Given the description of an element on the screen output the (x, y) to click on. 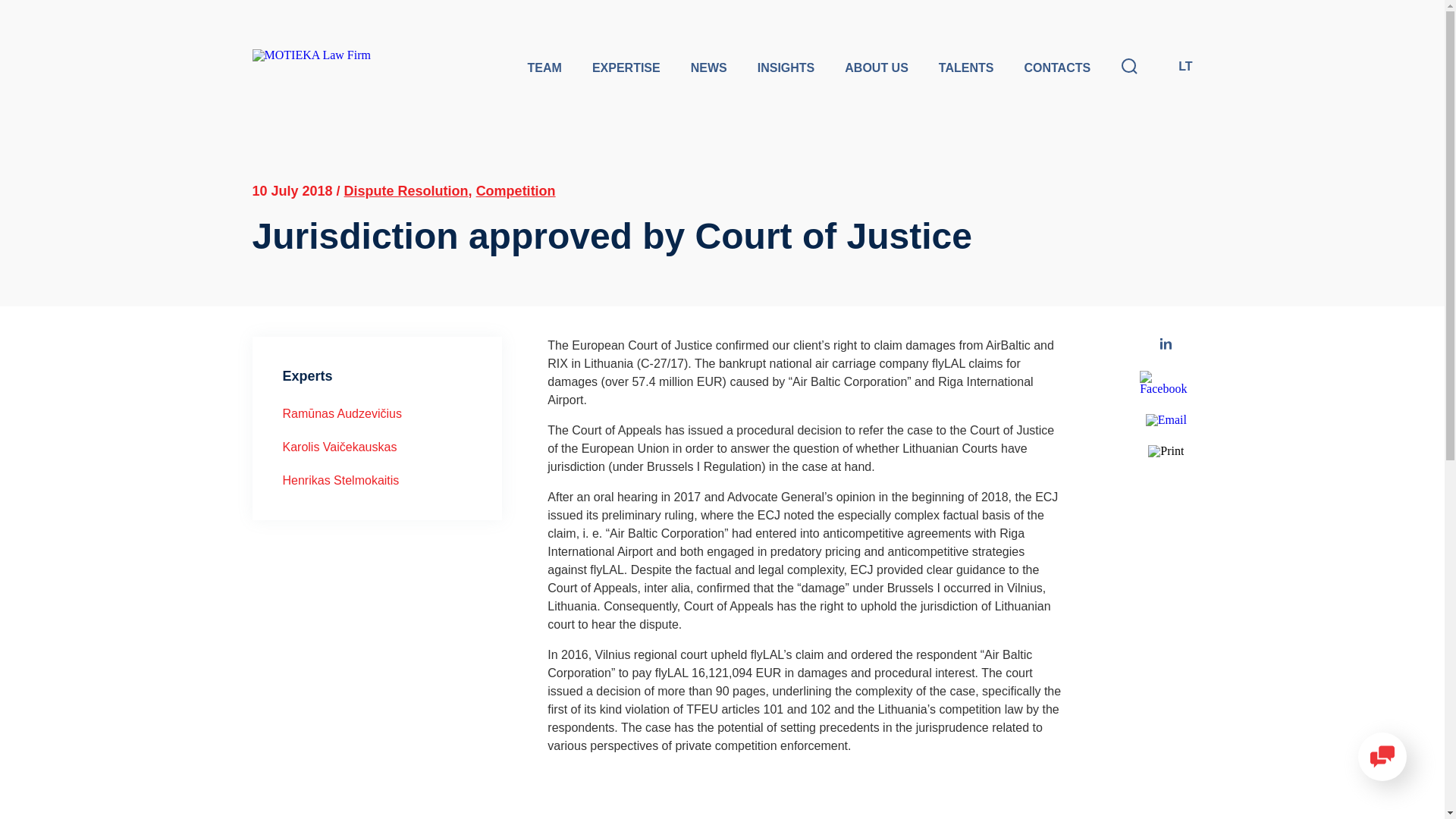
Contacts (1057, 67)
INSIGHTS (785, 67)
CONTACTS (1057, 67)
TEAM (544, 67)
TALENTS (966, 67)
Team (544, 67)
Competition (516, 191)
About us (876, 67)
EXPERTISE (625, 67)
NEWS (708, 67)
